Given the description of an element on the screen output the (x, y) to click on. 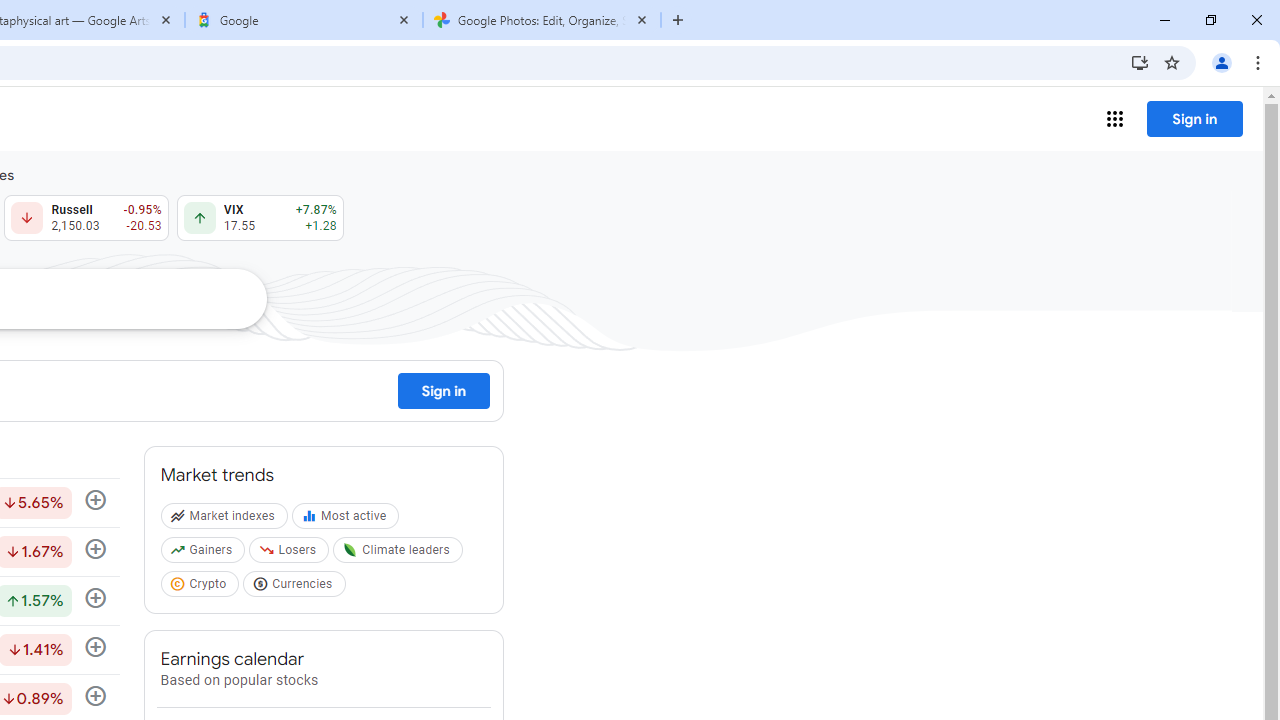
Russell 2,150.03 Down by 0.95% -20.53 (85, 218)
Follow (95, 647)
Market indexes (226, 520)
GLeaf logo (349, 550)
Currencies (296, 587)
